Given the description of an element on the screen output the (x, y) to click on. 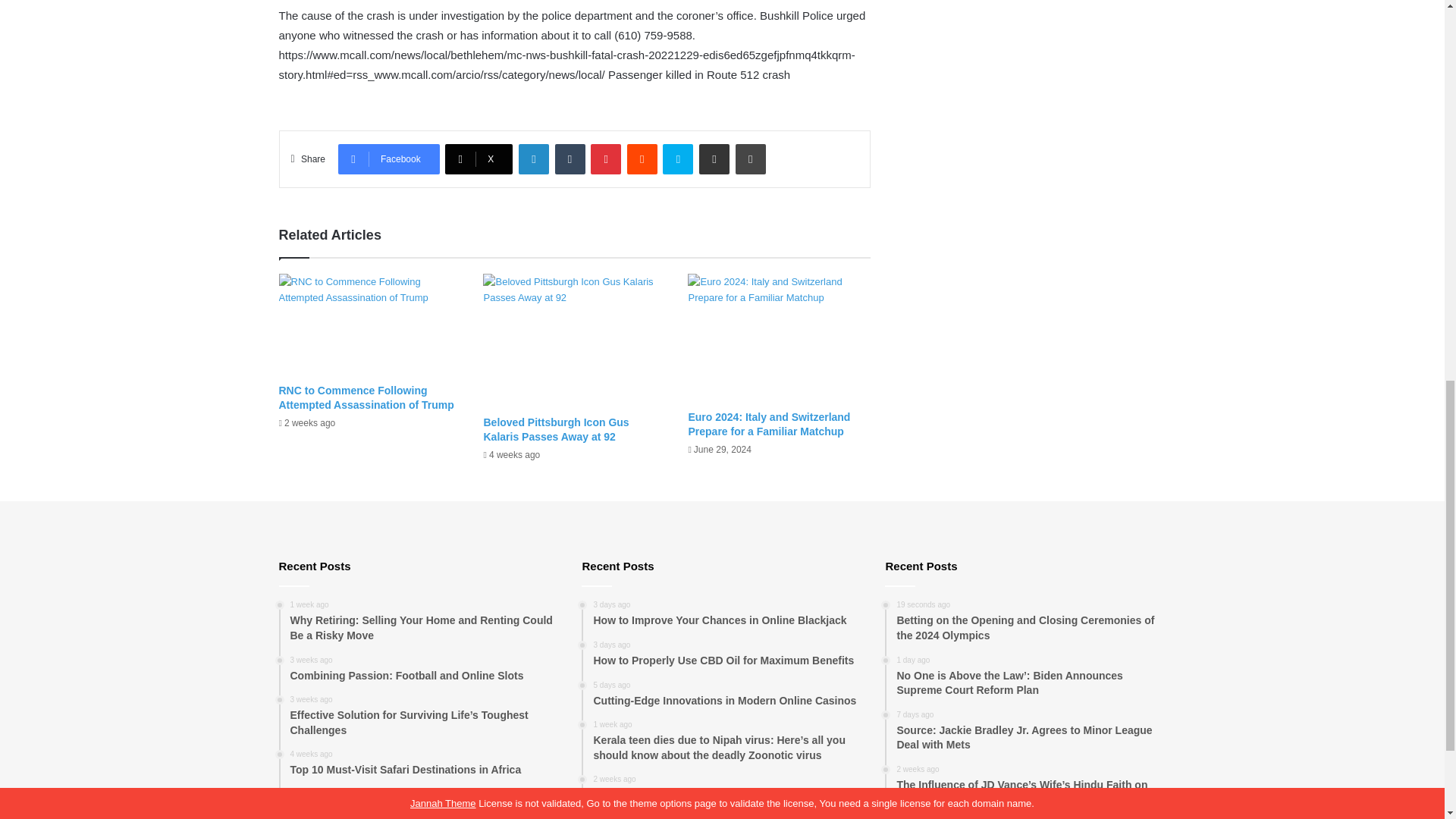
X (478, 159)
Beloved Pittsburgh Icon Gus Kalaris Passes Away at 92 (555, 429)
Pinterest (606, 159)
Print (750, 159)
Share via Email (713, 159)
Tumblr (569, 159)
X (478, 159)
Facebook (388, 159)
Tumblr (569, 159)
Facebook (388, 159)
Share via Email (713, 159)
Reddit (642, 159)
Pinterest (606, 159)
Skype (677, 159)
